Given the description of an element on the screen output the (x, y) to click on. 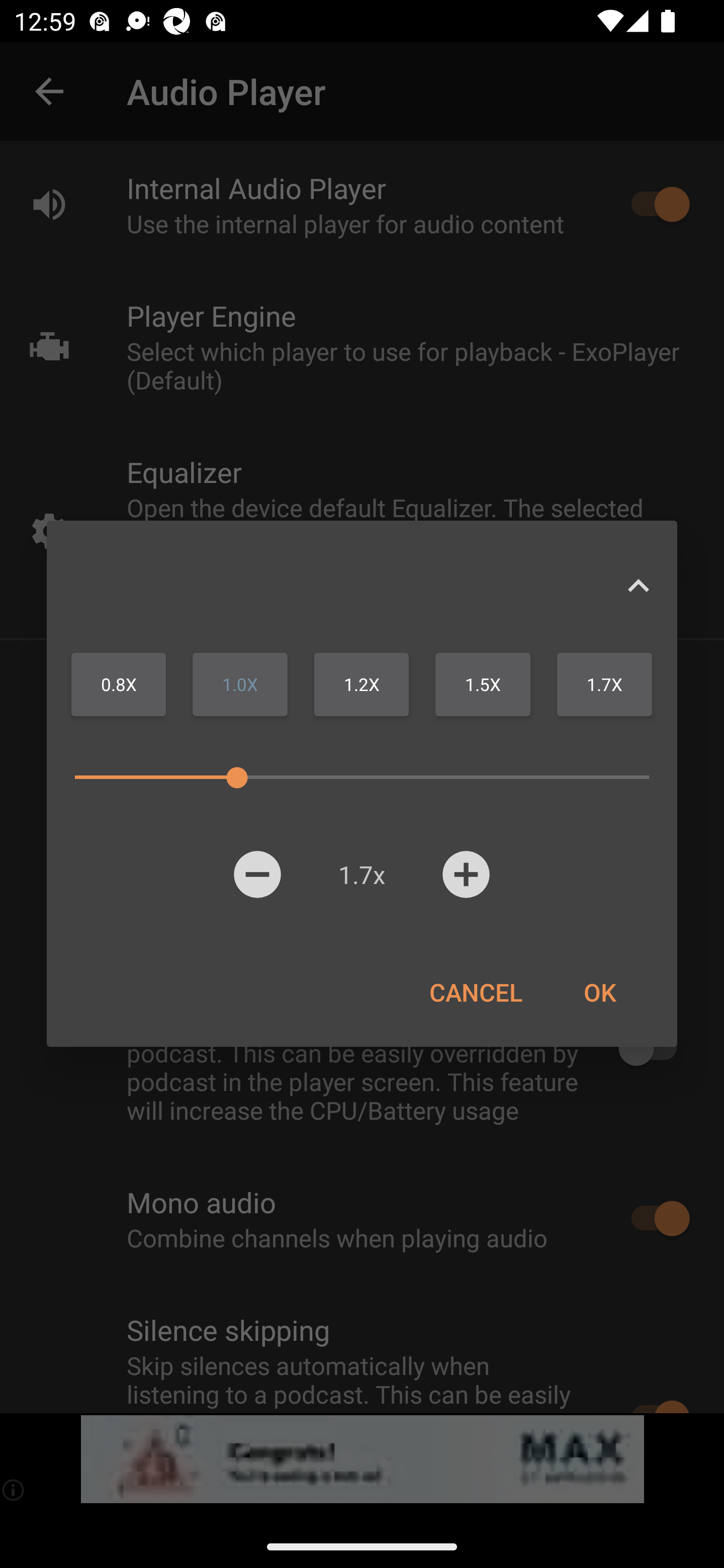
Expand (637, 585)
0.8X (118, 683)
1.0X (239, 683)
1.2X (360, 683)
1.5X (482, 683)
1.7X (604, 683)
1.7x (361, 873)
CANCEL (475, 992)
OK (599, 992)
